Given the description of an element on the screen output the (x, y) to click on. 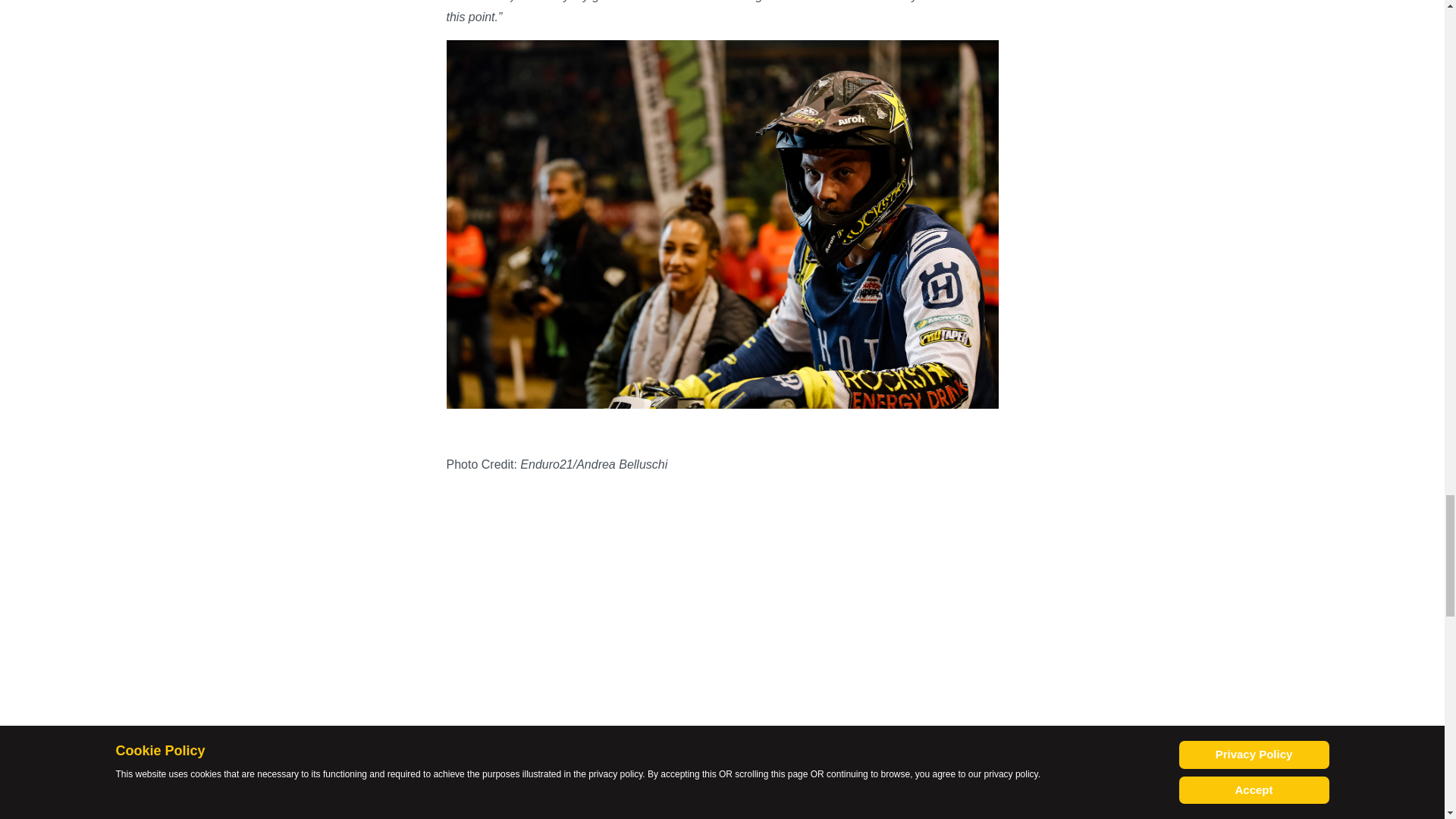
3rd party ad content (721, 606)
